Given the description of an element on the screen output the (x, y) to click on. 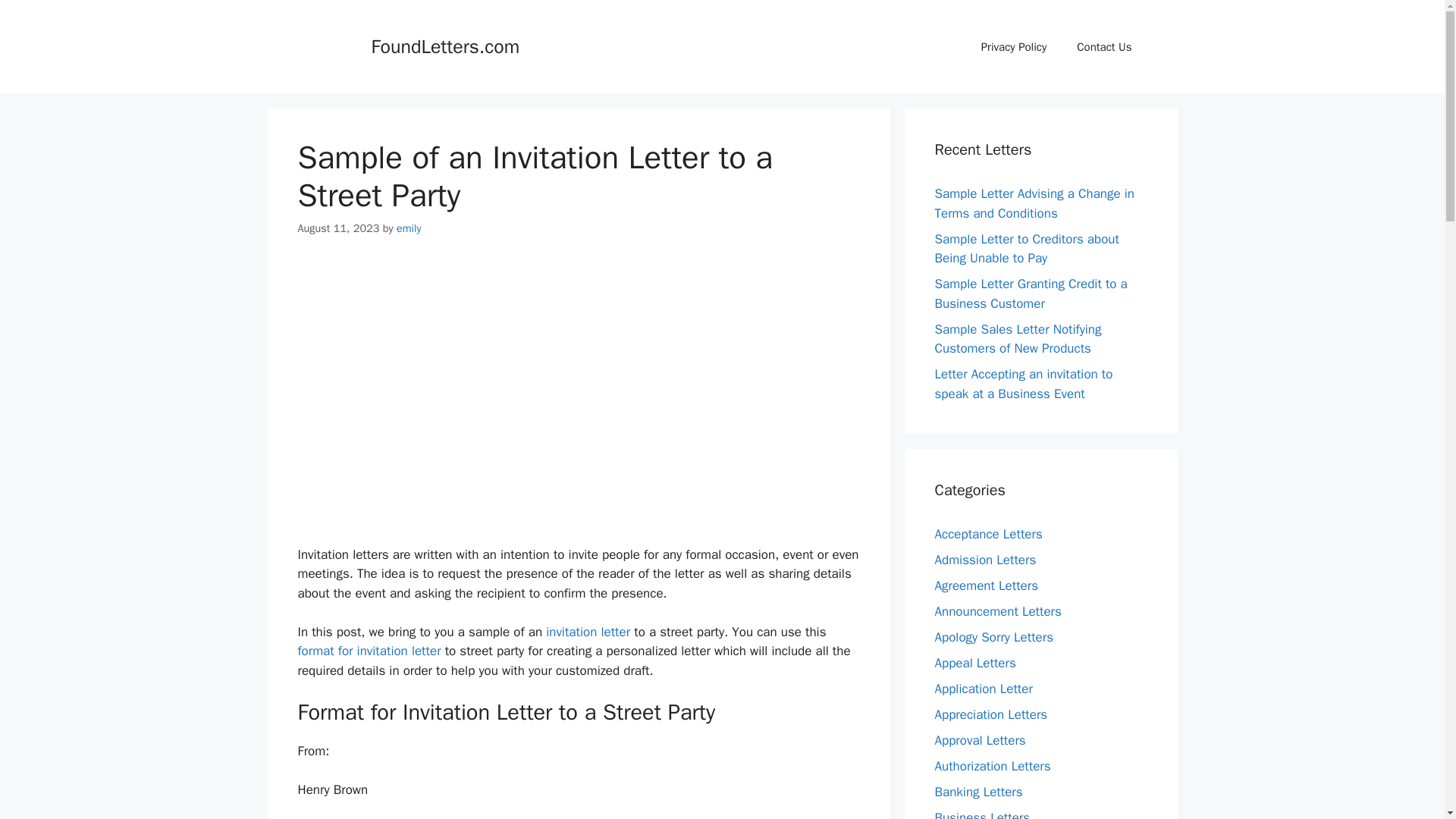
Letter Accepting an invitation to speak at a Business Event (1023, 384)
View all posts by emily (409, 228)
Agreement Letters (986, 585)
Business Letters (981, 814)
Sample Sales Letter Notifying Customers of New Products (1017, 339)
Privacy Policy (1014, 46)
Appreciation Letters (990, 714)
format for invitation letter (369, 650)
emily (409, 228)
Approval Letters (979, 740)
Sample Letter to Creditors about Being Unable to Pay (1026, 248)
Admission Letters (984, 560)
invitation letter (588, 631)
Sample Letter Granting Credit to a Business Customer (1030, 294)
Contact Us (1104, 46)
